Given the description of an element on the screen output the (x, y) to click on. 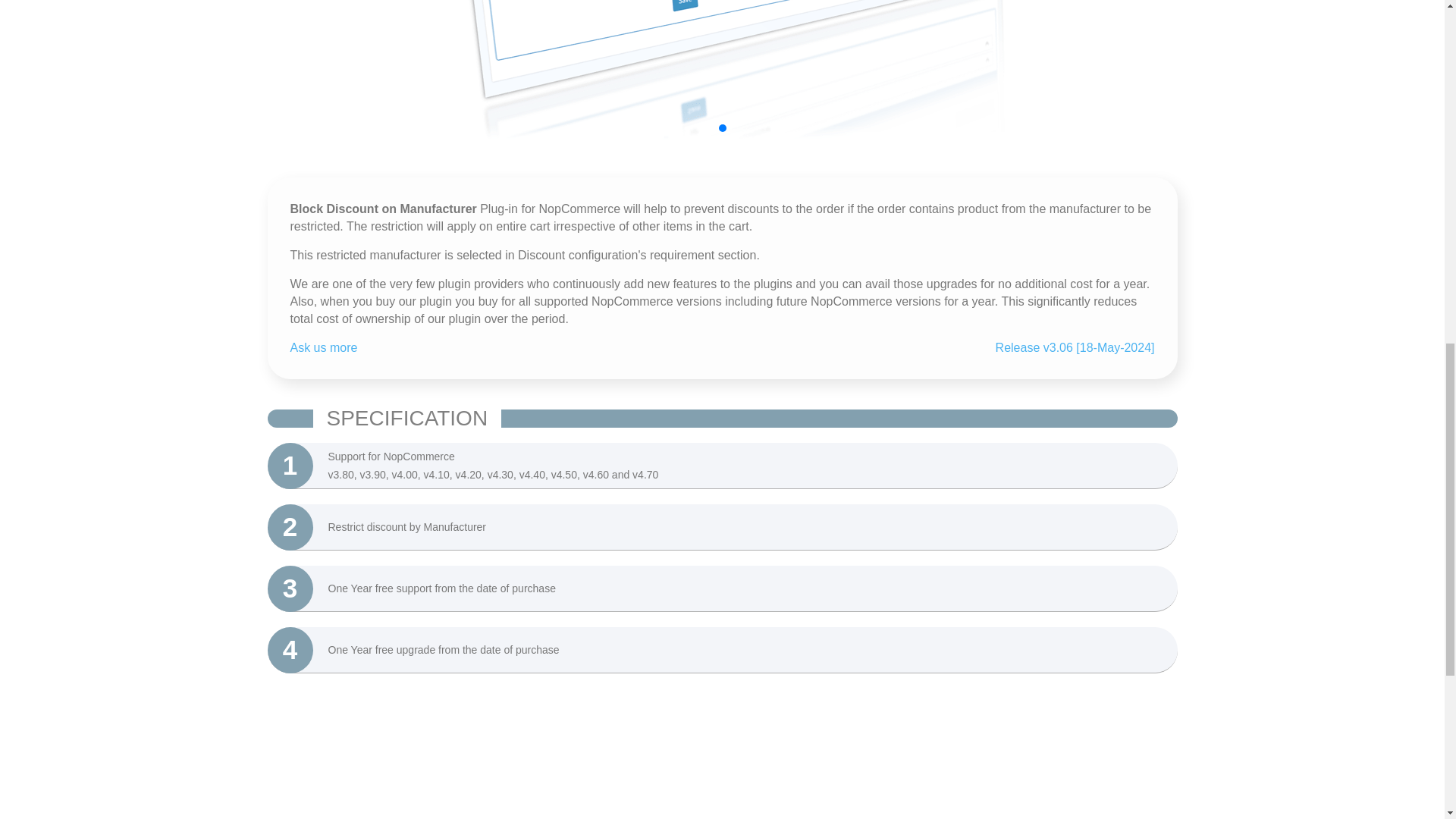
Atluz Block Discount on Manufacturer Restriction (722, 69)
Ask us more (322, 347)
